Given the description of an element on the screen output the (x, y) to click on. 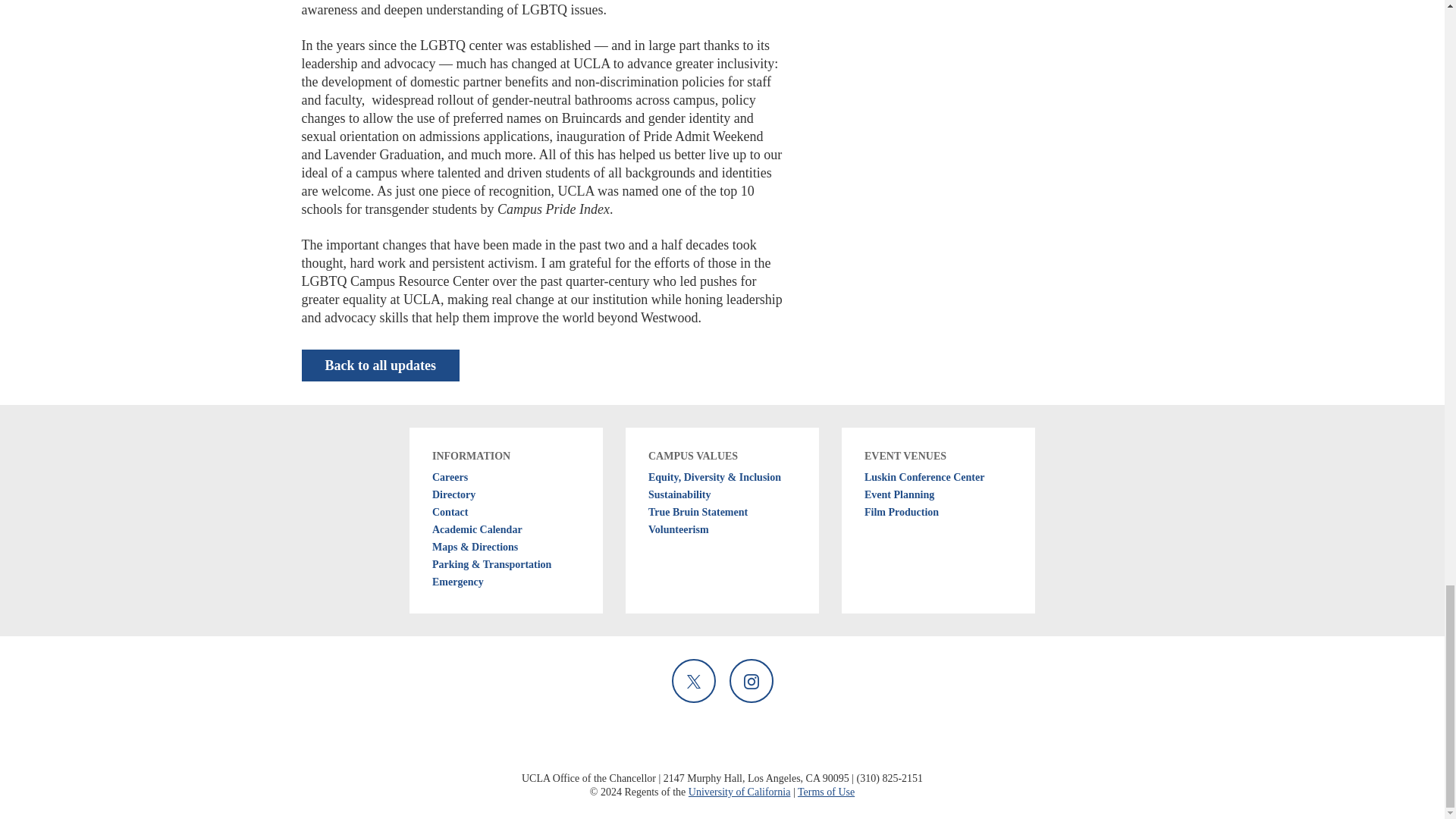
Directory (505, 494)
Contact (505, 512)
Sustainability (722, 494)
Academic Calendar (505, 529)
Luskin Conference Center (938, 477)
Emergency (505, 581)
Volunteerism (722, 529)
Back to all updates (380, 365)
Careers (505, 477)
True Bruin Statement (722, 512)
